Given the description of an element on the screen output the (x, y) to click on. 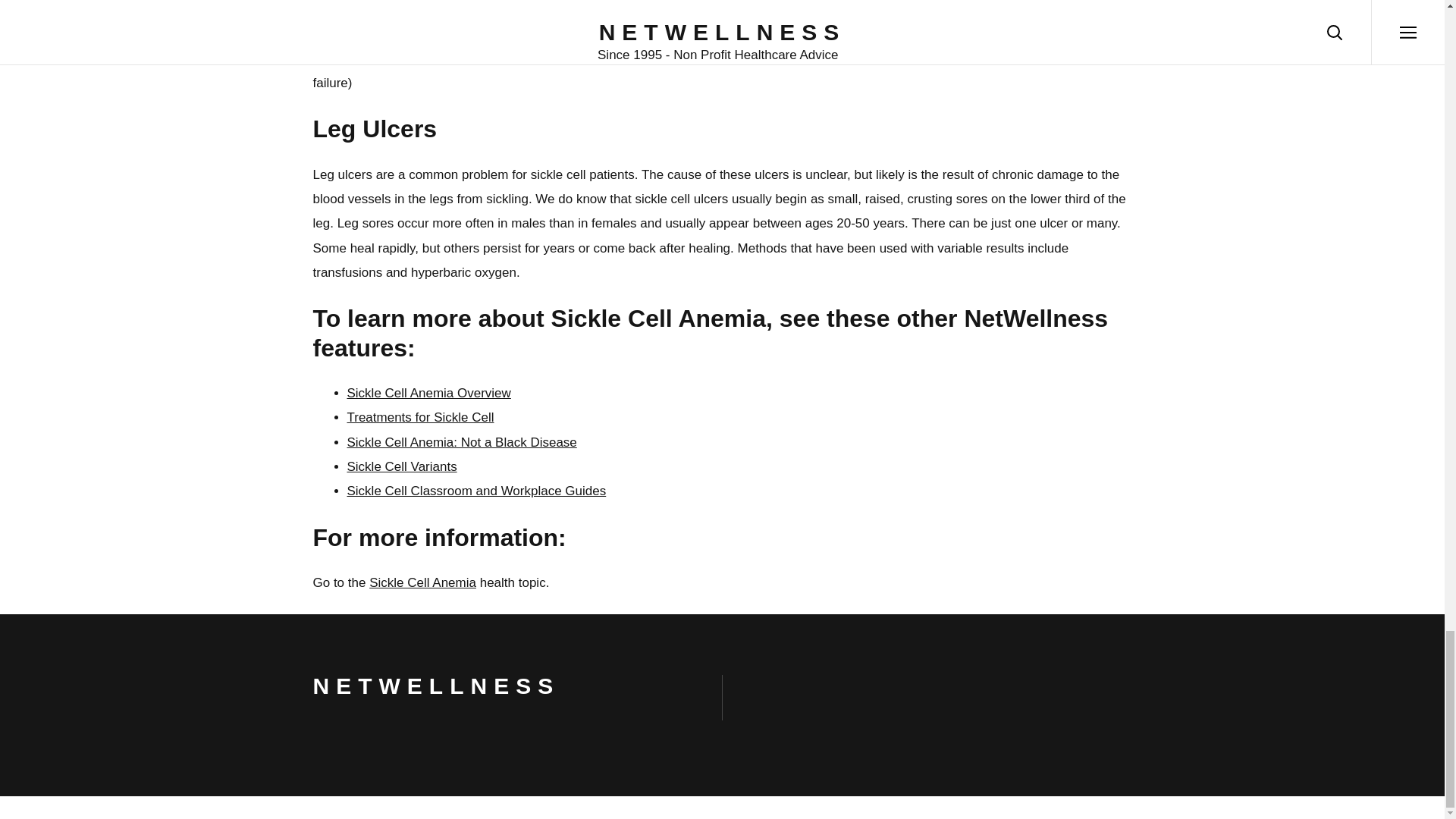
Treatments for Sickle Cell (421, 417)
Sickle Cell Classroom and Workplace Guides (477, 490)
Sickle Cell Variants (402, 466)
Sickle Cell Anemia: Not a Black Disease (461, 441)
Sickle Cell Anemia Overview (429, 392)
